Given the description of an element on the screen output the (x, y) to click on. 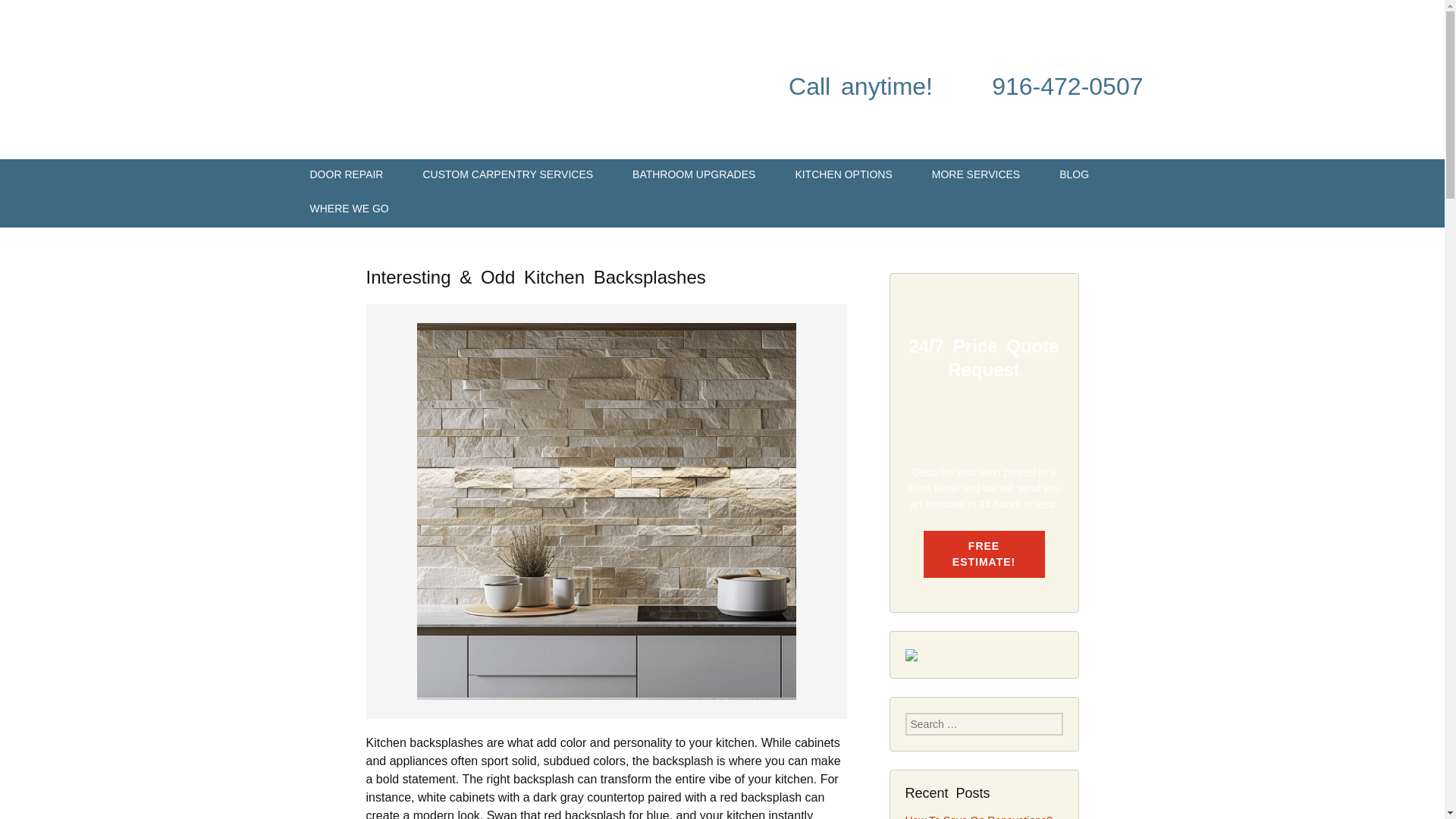
916-472-0507 (1066, 85)
CUSTOM CARPENTRY SERVICES (507, 175)
DOOR REPAIR (346, 175)
MORE SERVICES (975, 175)
KITCHEN OPTIONS (842, 175)
BATHROOM UPGRADES (693, 175)
